Given the description of an element on the screen output the (x, y) to click on. 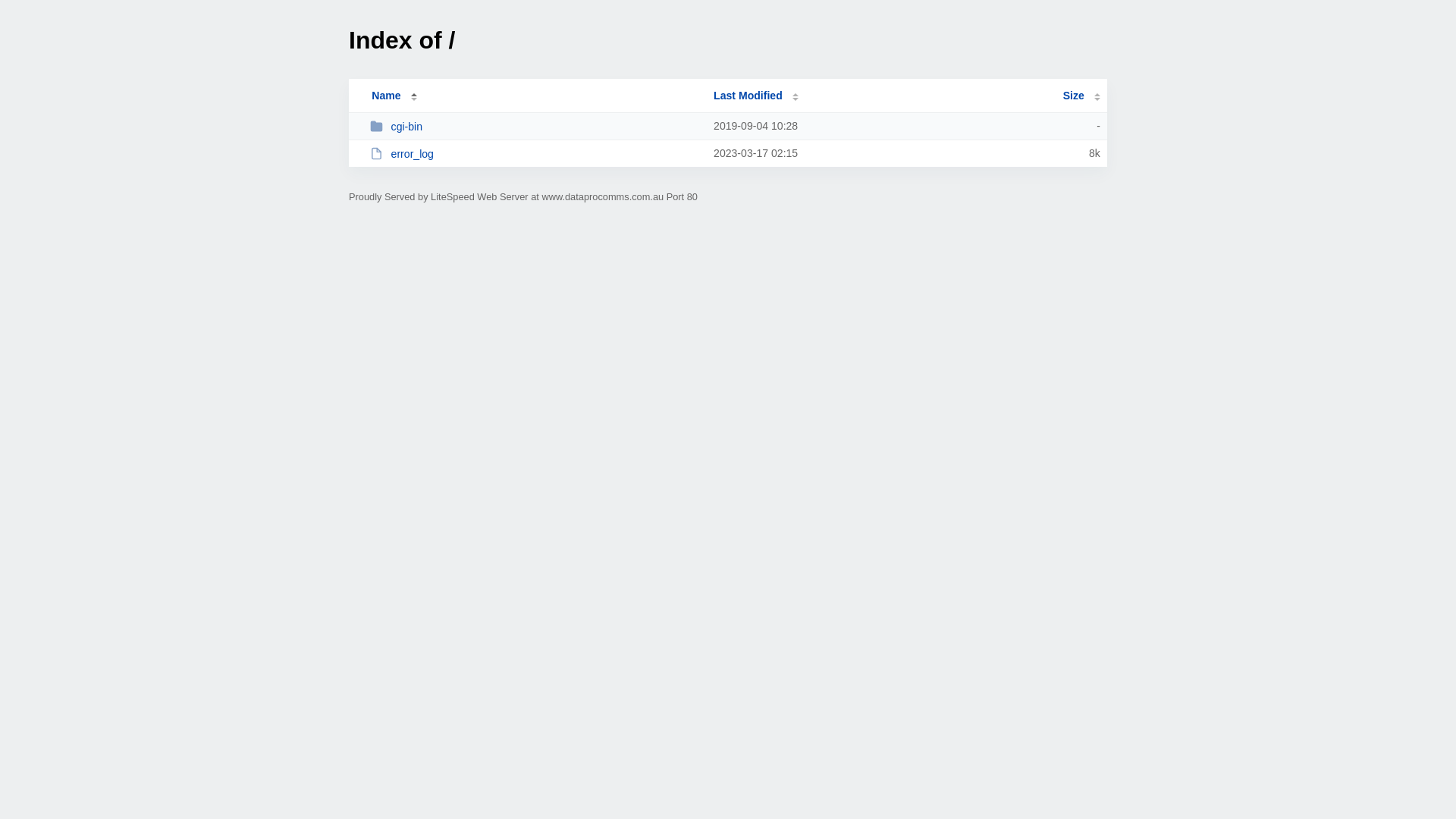
Last Modified Element type: text (755, 95)
Size Element type: text (1081, 95)
error_log Element type: text (534, 153)
cgi-bin Element type: text (534, 125)
Name Element type: text (385, 95)
